Given the description of an element on the screen output the (x, y) to click on. 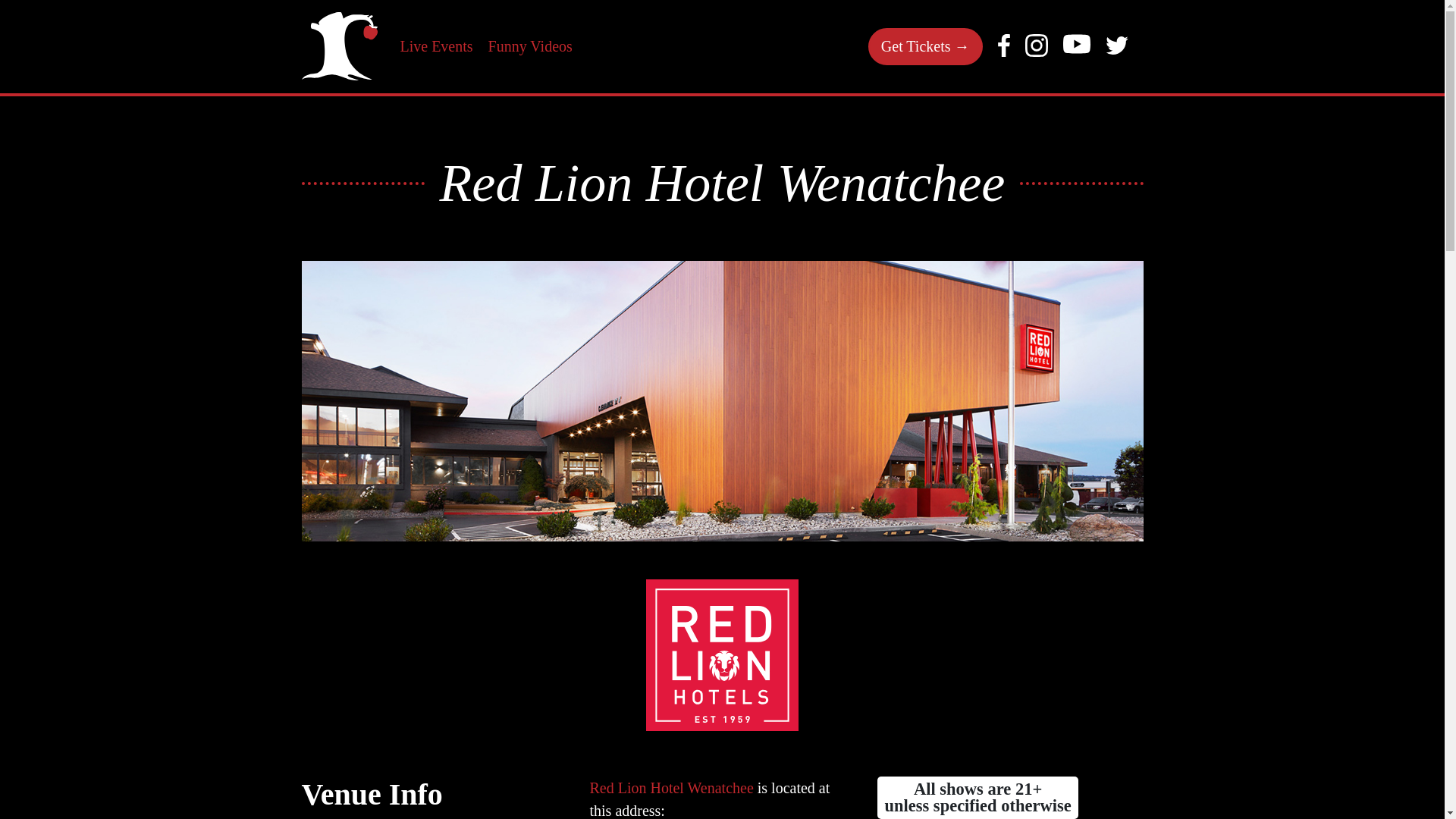
Live Events (436, 46)
Red Lion Hotel Wenatchee (670, 787)
Red Lion Hotel Wenatchee (670, 787)
Rotten Apple (339, 46)
Rotten Apple on Instagram (1036, 51)
Funny Videos (529, 46)
Rotten Apple on YouTube (1076, 51)
Rotten Apple on Twitter (1116, 48)
Red Lion Hotel Wenatchee (721, 655)
